Given the description of an element on the screen output the (x, y) to click on. 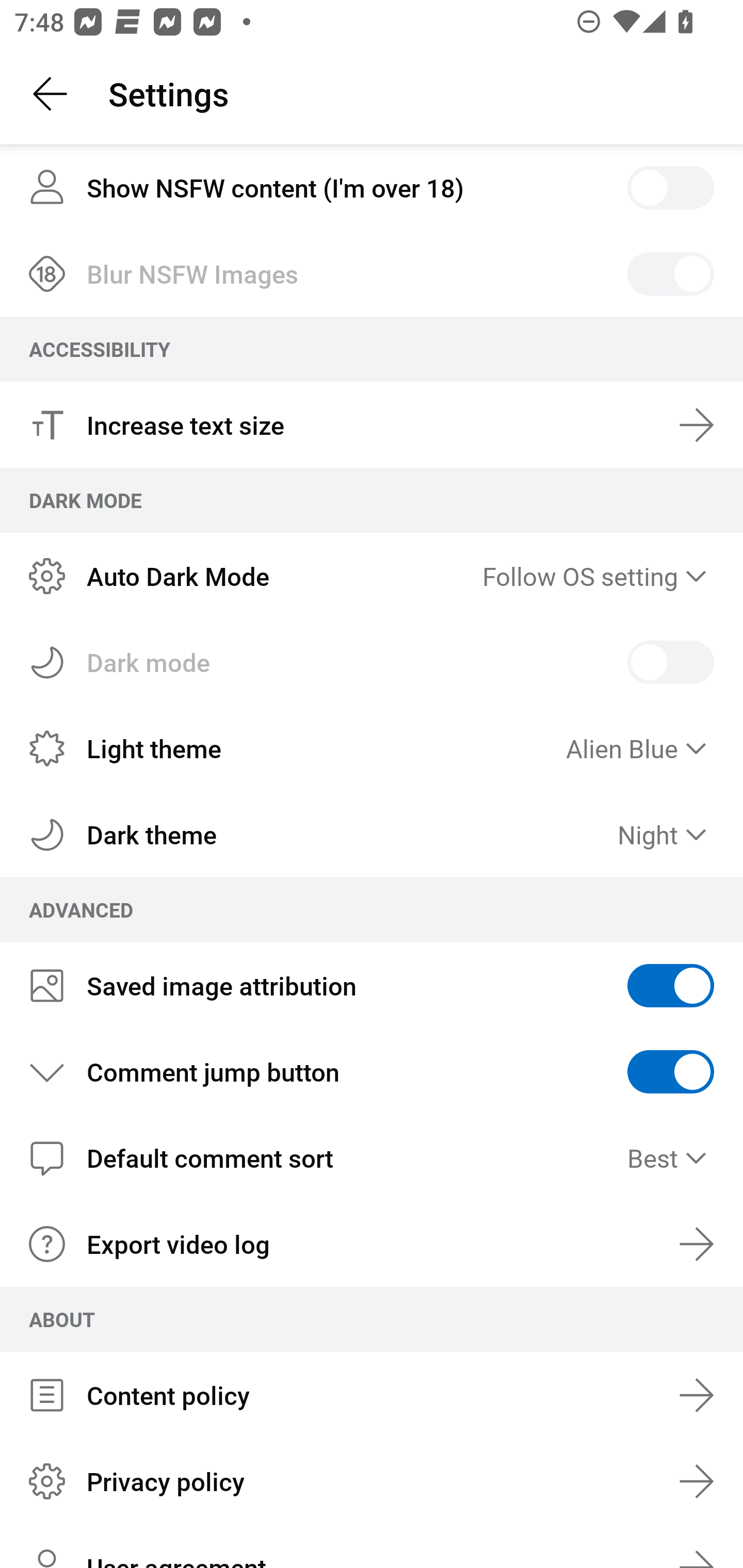
Navigate up (50, 93)
Show NSFW content (I'm over 18) (371, 187)
Blur NSFW Images (371, 273)
Increase text size (371, 424)
Auto Dark Mode Follow OS setting (371, 576)
Dark mode (371, 662)
Light theme Alien Blue (371, 748)
Dark theme Night (371, 834)
Saved image attribution (371, 985)
Comment jump button (371, 1071)
Default comment sort Best (371, 1157)
Export video log (371, 1244)
Content policy (371, 1394)
Privacy policy (371, 1480)
